Given the description of an element on the screen output the (x, y) to click on. 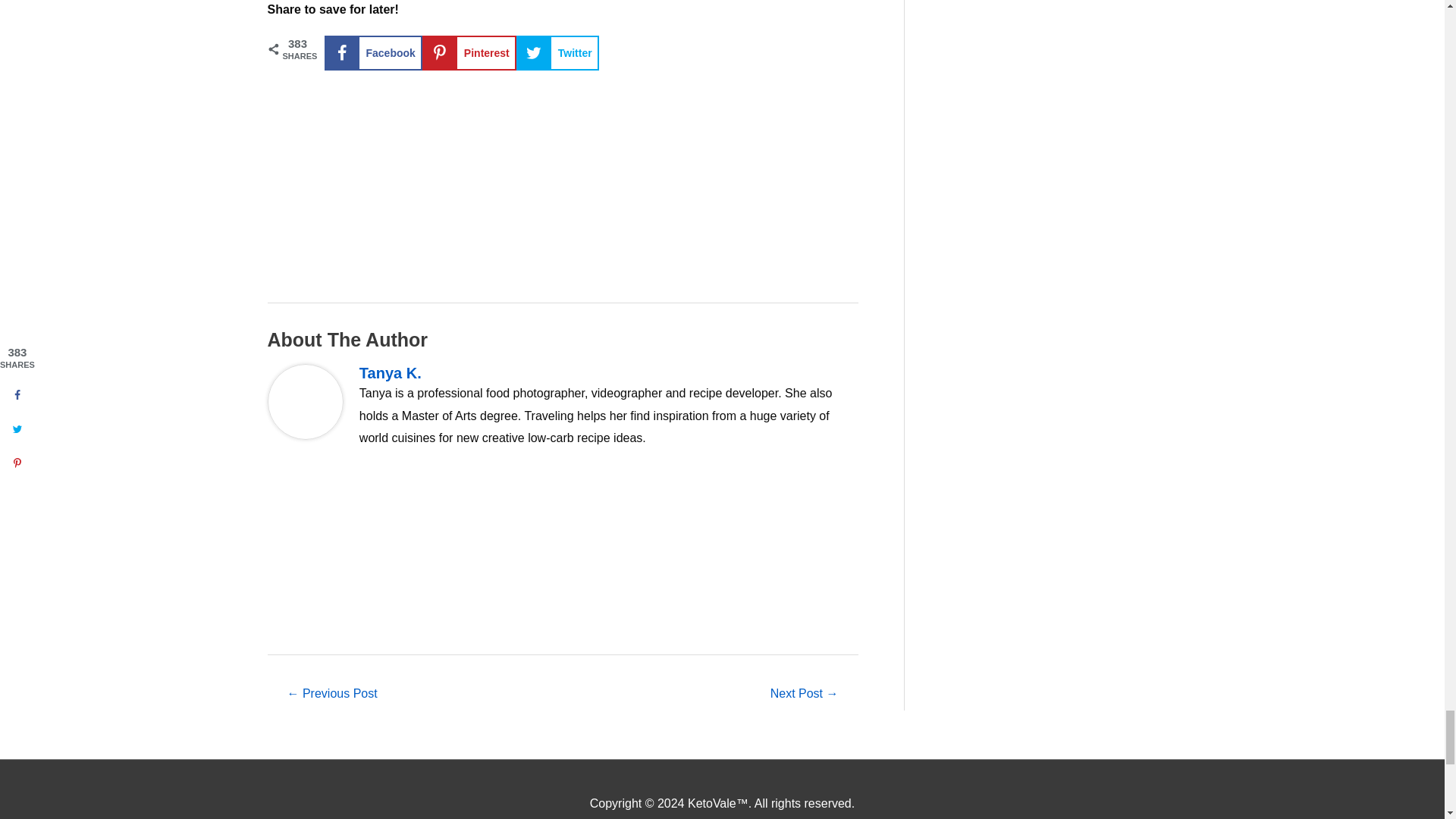
The Carnivore Diet: Should You Try It? (804, 694)
Save to Pinterest (469, 53)
Share on Twitter (557, 53)
Share on Facebook (373, 53)
